Given the description of an element on the screen output the (x, y) to click on. 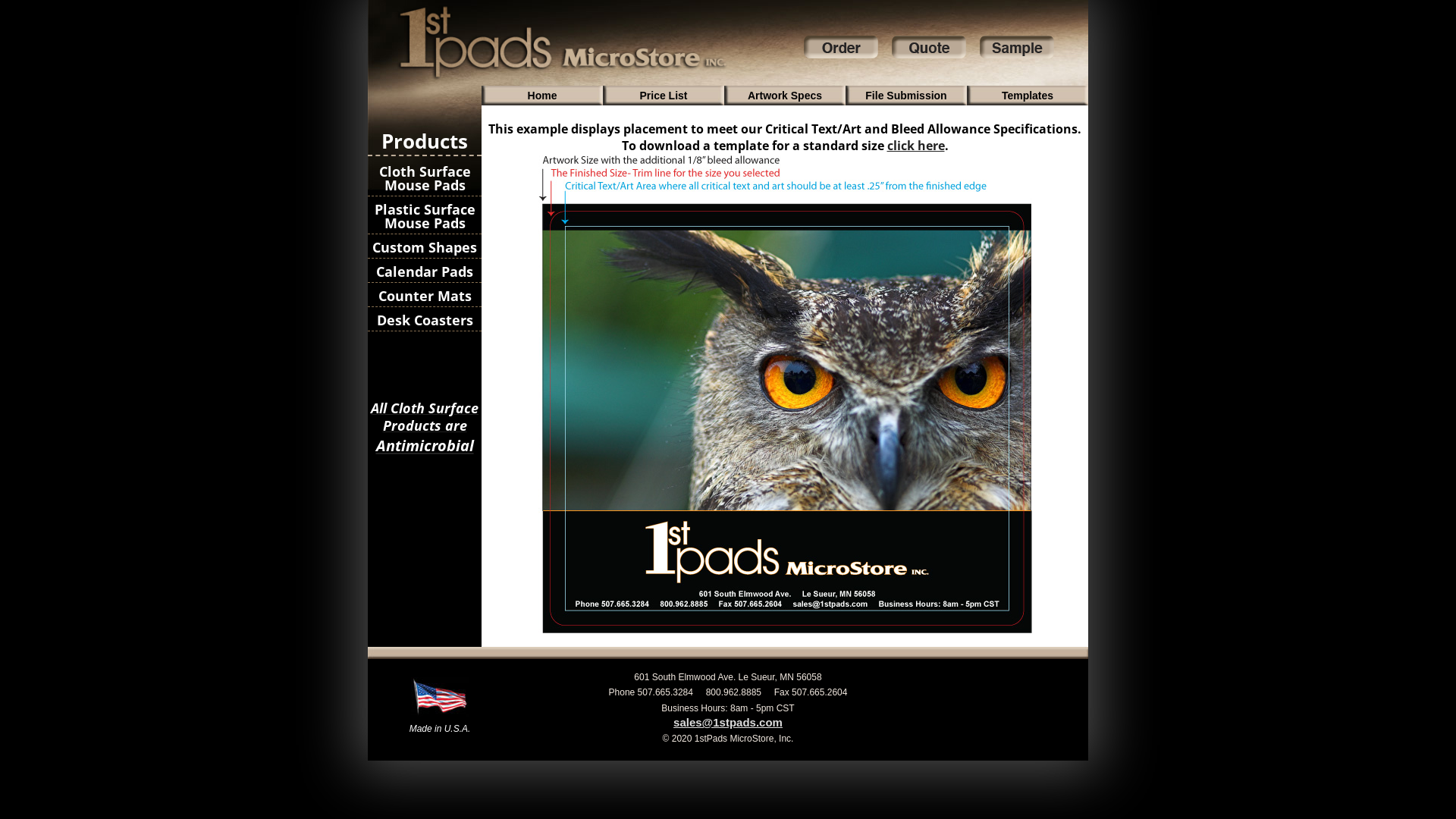
Counter Mats Element type: text (424, 296)
click here Element type: text (915, 145)
Antimicrobial Element type: text (424, 445)
Artwork Specs Element type: text (784, 94)
Order Element type: hover (840, 57)
Calendar Pads Element type: text (424, 271)
Plastic Surface Mouse Pads Element type: text (424, 216)
Quote Element type: hover (928, 57)
1stPads MicroStore, Inc. Element type: hover (561, 77)
File Submission Element type: text (905, 94)
sales@1stpads.com Element type: text (727, 721)
Cloth Surface Mouse Pads Element type: text (424, 178)
Home Element type: text (541, 94)
Custom Shapes Element type: text (424, 247)
Sample Element type: hover (1016, 57)
Desk Coasters Element type: text (424, 320)
Templates Element type: text (1027, 94)
Price List Element type: text (663, 94)
PriceListDownload.pdf Element type: hover (1016, 704)
All Cloth Surface
Products are Element type: text (424, 424)
